Given the description of an element on the screen output the (x, y) to click on. 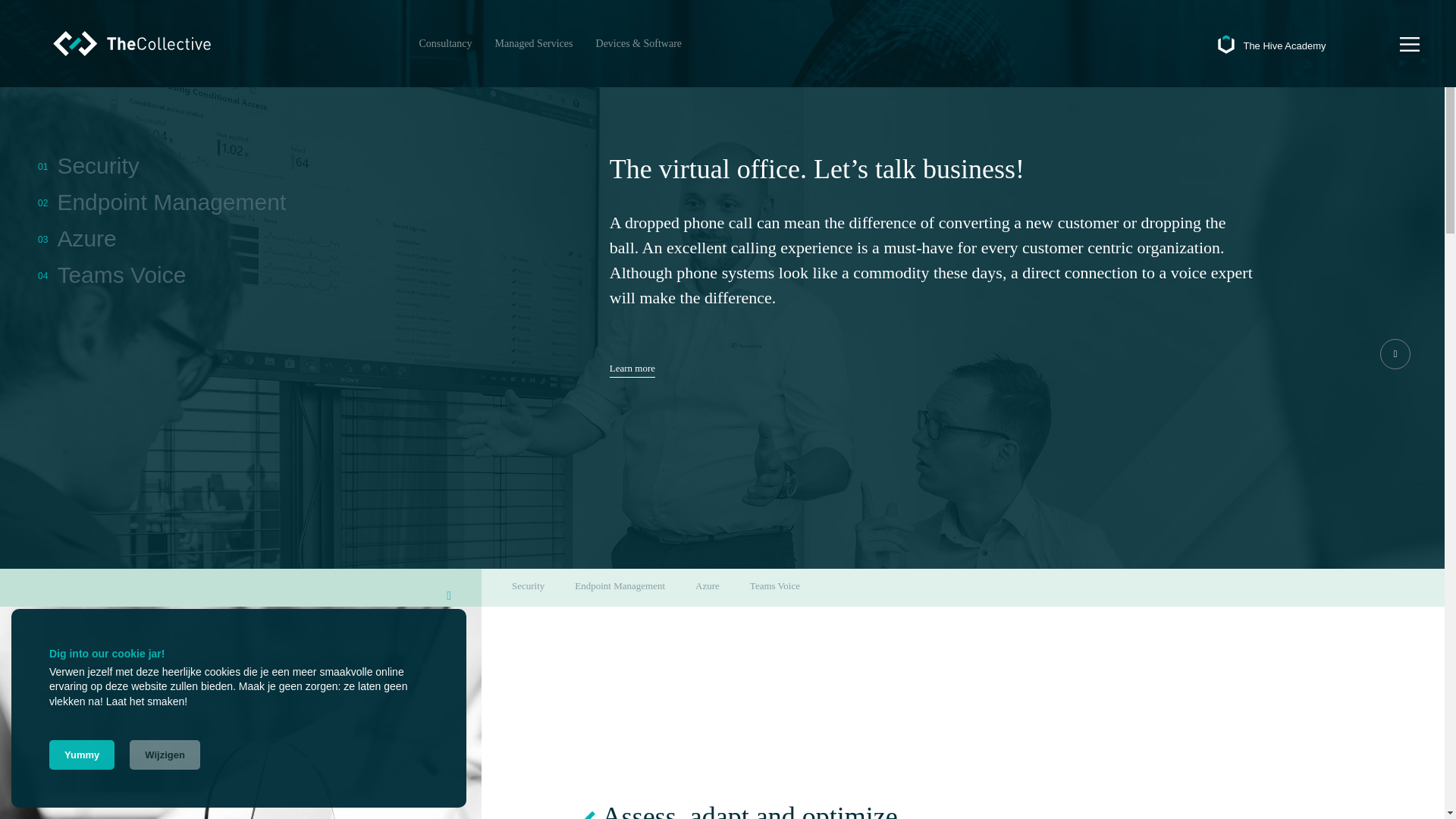
Endpoint Management (620, 585)
Security (88, 166)
Azure (76, 238)
Managed Services (532, 43)
Yummy (82, 755)
Security (528, 585)
Teams Voice (774, 585)
The Hive Academy (1271, 43)
Azure (707, 585)
Endpoint Management (161, 202)
